Given the description of an element on the screen output the (x, y) to click on. 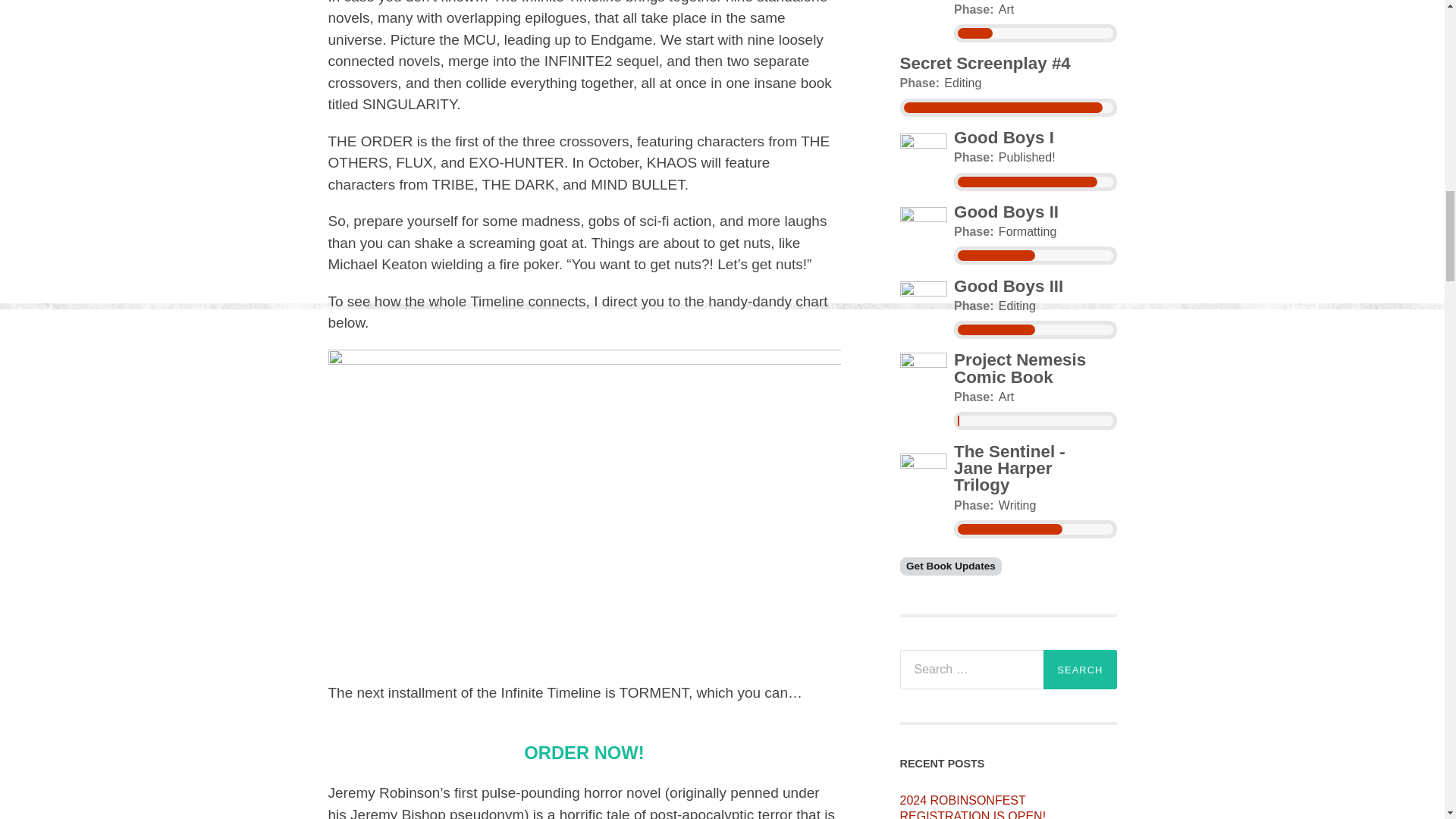
Search (1079, 669)
Search (1079, 669)
ORDER NOW! (583, 752)
